Given the description of an element on the screen output the (x, y) to click on. 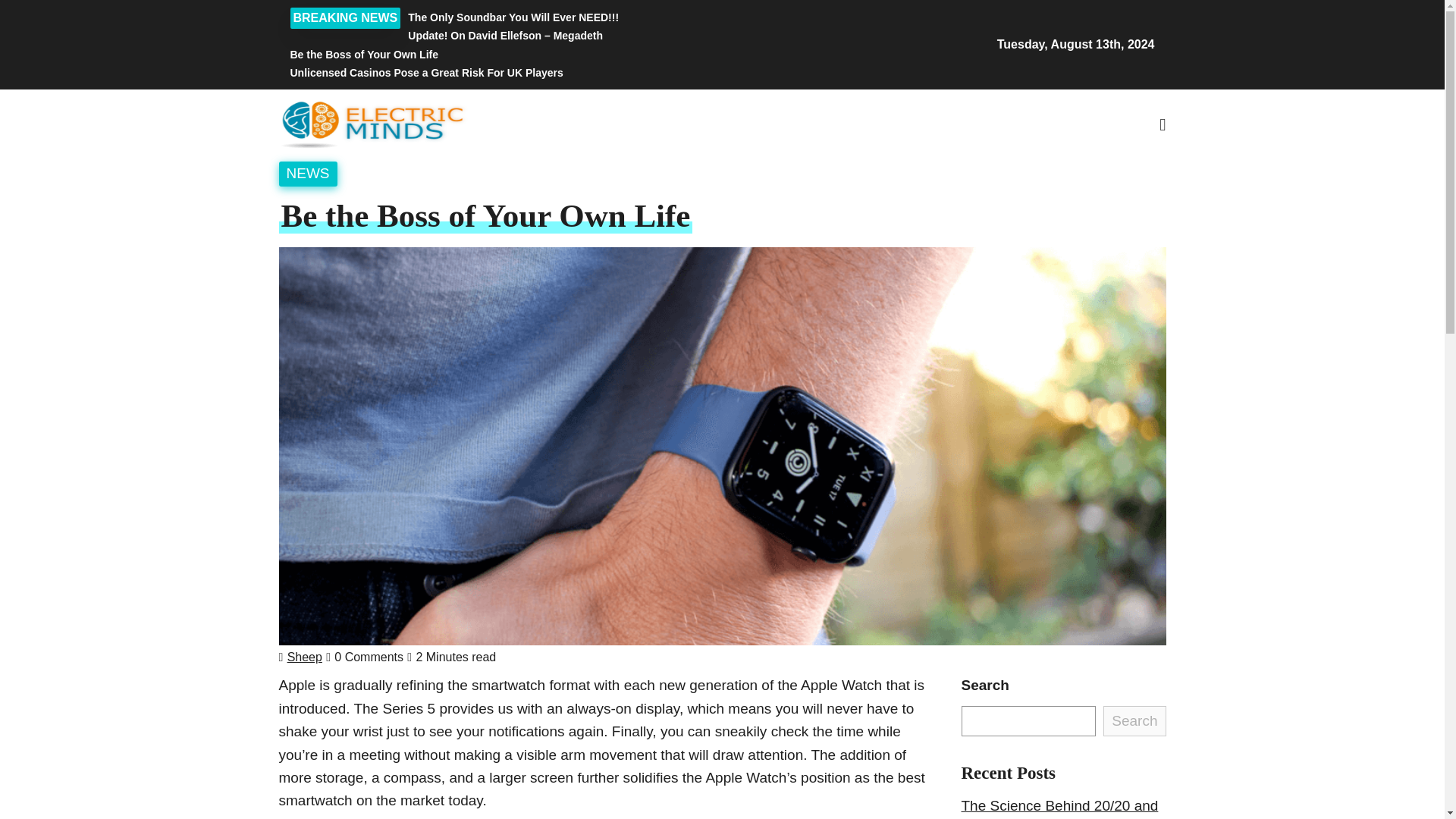
The Only Soundbar You Will Ever NEED!!! (574, 17)
NEWS (308, 172)
Sheep (303, 656)
Search (1045, 206)
Be the Boss of Your Own Life (574, 54)
Unlicensed Casinos Pose a Great Risk For UK Players (574, 72)
Search (1134, 720)
